Given the description of an element on the screen output the (x, y) to click on. 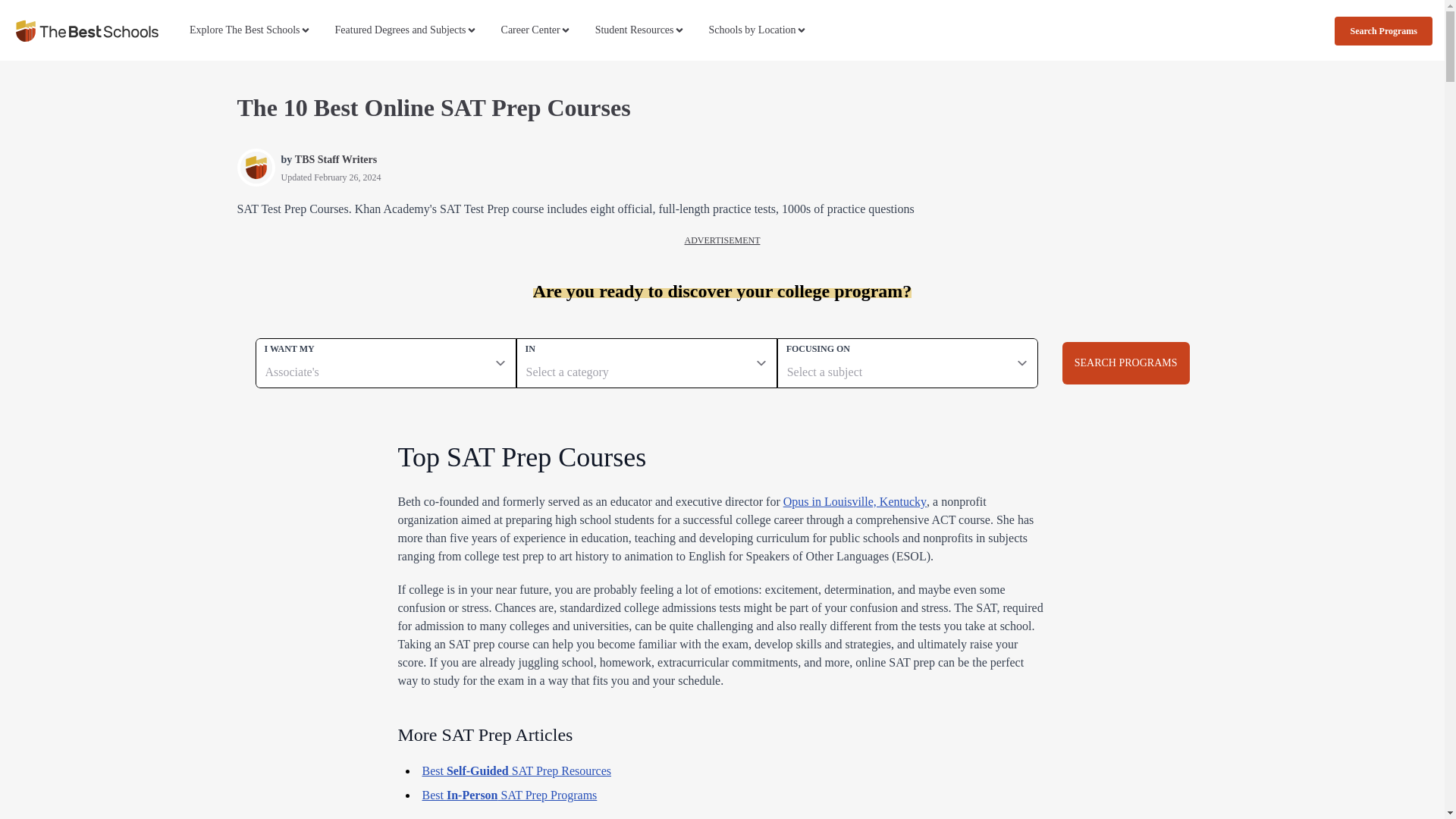
Explore The Best Schools (250, 30)
Featured Degrees and Subjects (405, 30)
